Given the description of an element on the screen output the (x, y) to click on. 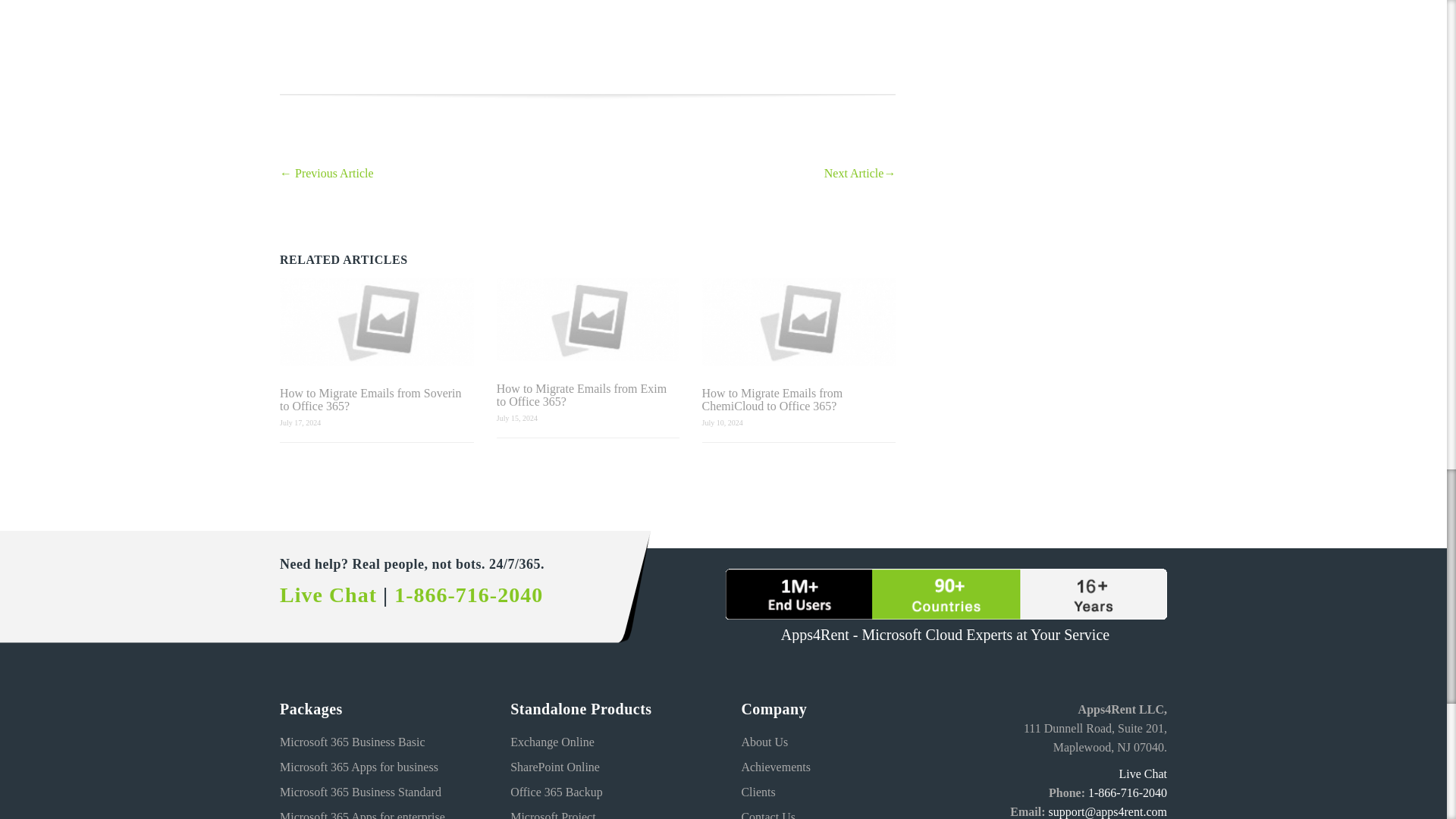
Permalink to How to Migrate Emails from Exim to Office 365? (587, 320)
Permalink to How to Migrate Emails from Exim to Office 365? (587, 394)
